Given the description of an element on the screen output the (x, y) to click on. 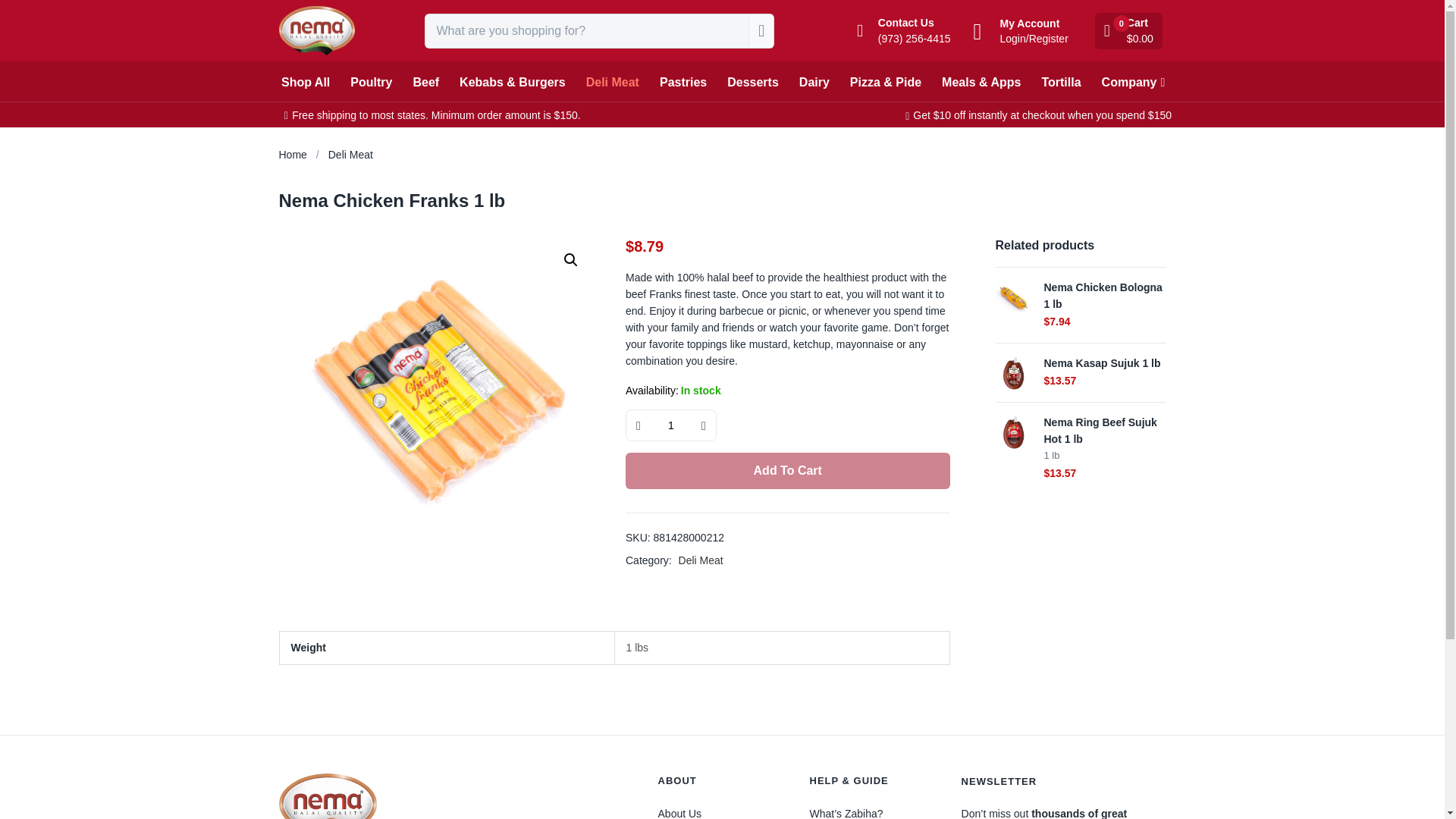
Nema-Chicken-Franks2.jpg (437, 393)
Qty (670, 425)
Nema Chicken Bologna 1 lb (1012, 297)
1 (670, 425)
Nema Ring Beef Sujuk Hot 1 lb (1012, 431)
Nema Kasap Sujuk 1 lb (1012, 372)
View your shopping cart (1129, 30)
